Given the description of an element on the screen output the (x, y) to click on. 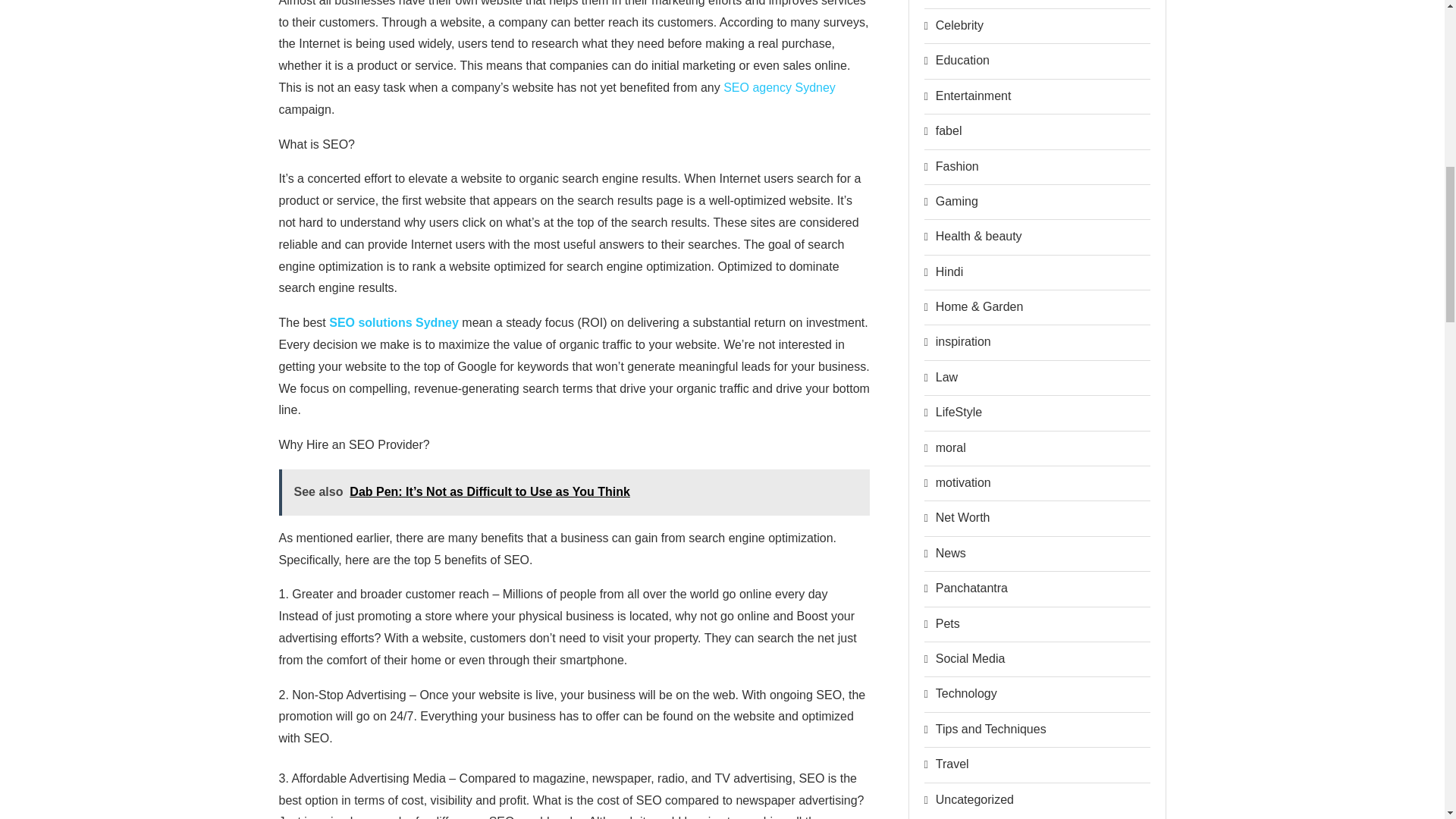
SEO agency Sydney (779, 87)
SEO solutions Sydney (393, 322)
